Given the description of an element on the screen output the (x, y) to click on. 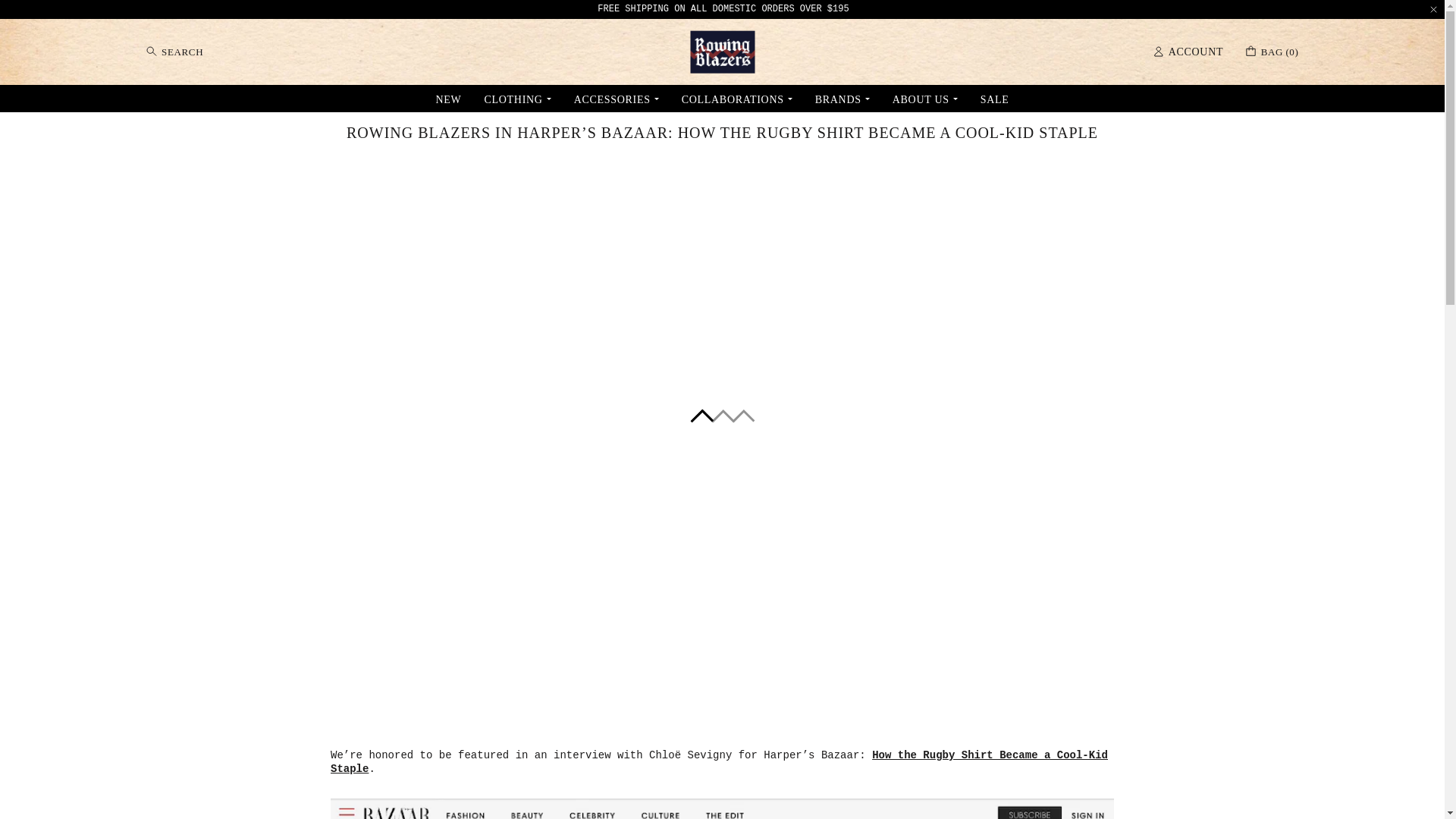
ACCESSORIES (616, 98)
SEARCH (174, 51)
NEW (448, 98)
CLOTHING (1272, 51)
ACCOUNT (516, 98)
